Given the description of an element on the screen output the (x, y) to click on. 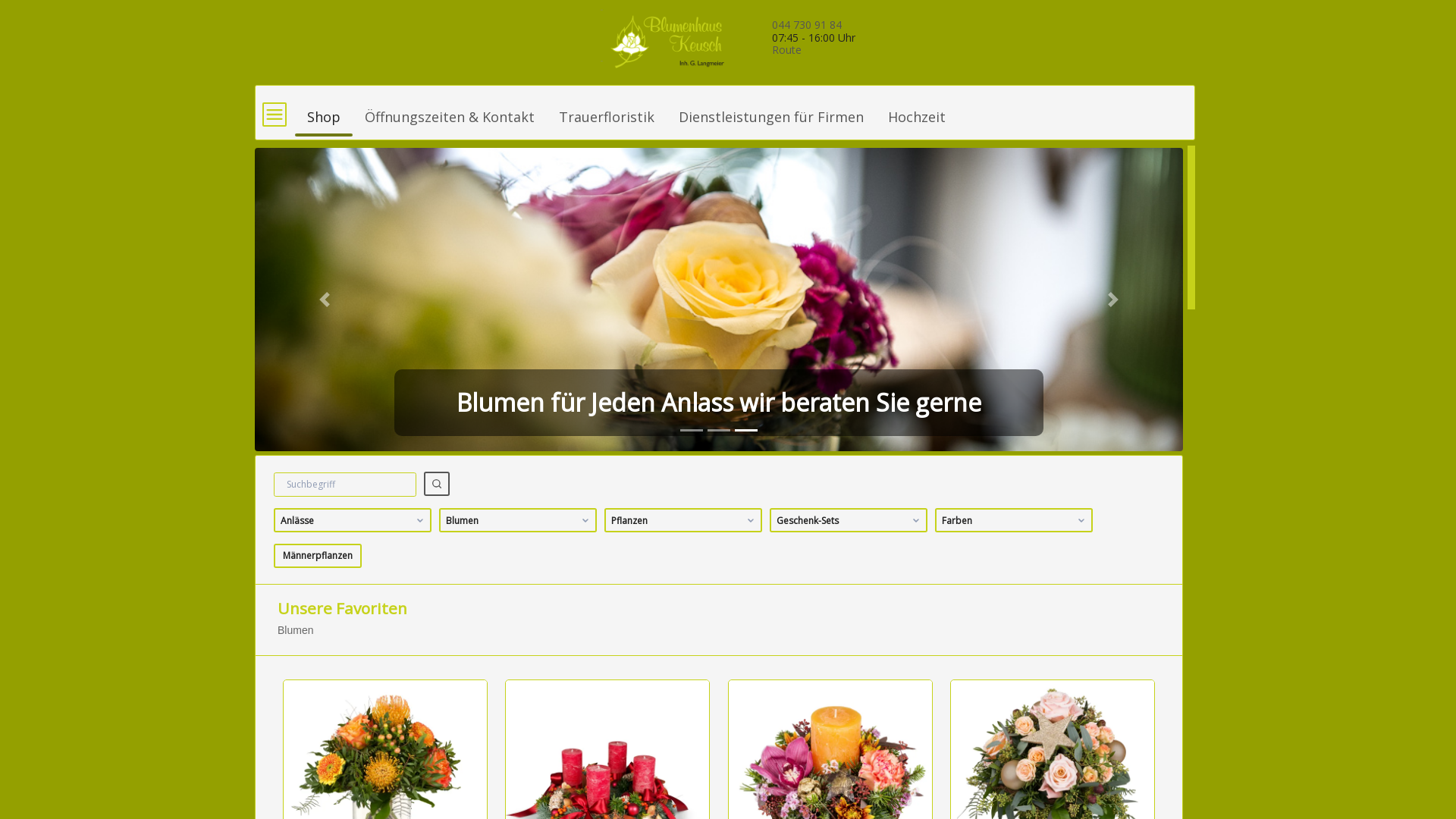
Hochzeit Element type: text (916, 109)
044 730 91 84 Element type: text (806, 24)
Trauerfloristik Element type: text (606, 109)
Shop Element type: text (323, 109)
Previous Element type: text (324, 299)
Pflanzen Element type: text (683, 520)
Blumen Element type: text (517, 520)
Route Element type: text (786, 49)
Farben Element type: text (1013, 520)
Next Element type: text (1113, 299)
Geschenk-Sets Element type: text (848, 520)
